Given the description of an element on the screen output the (x, y) to click on. 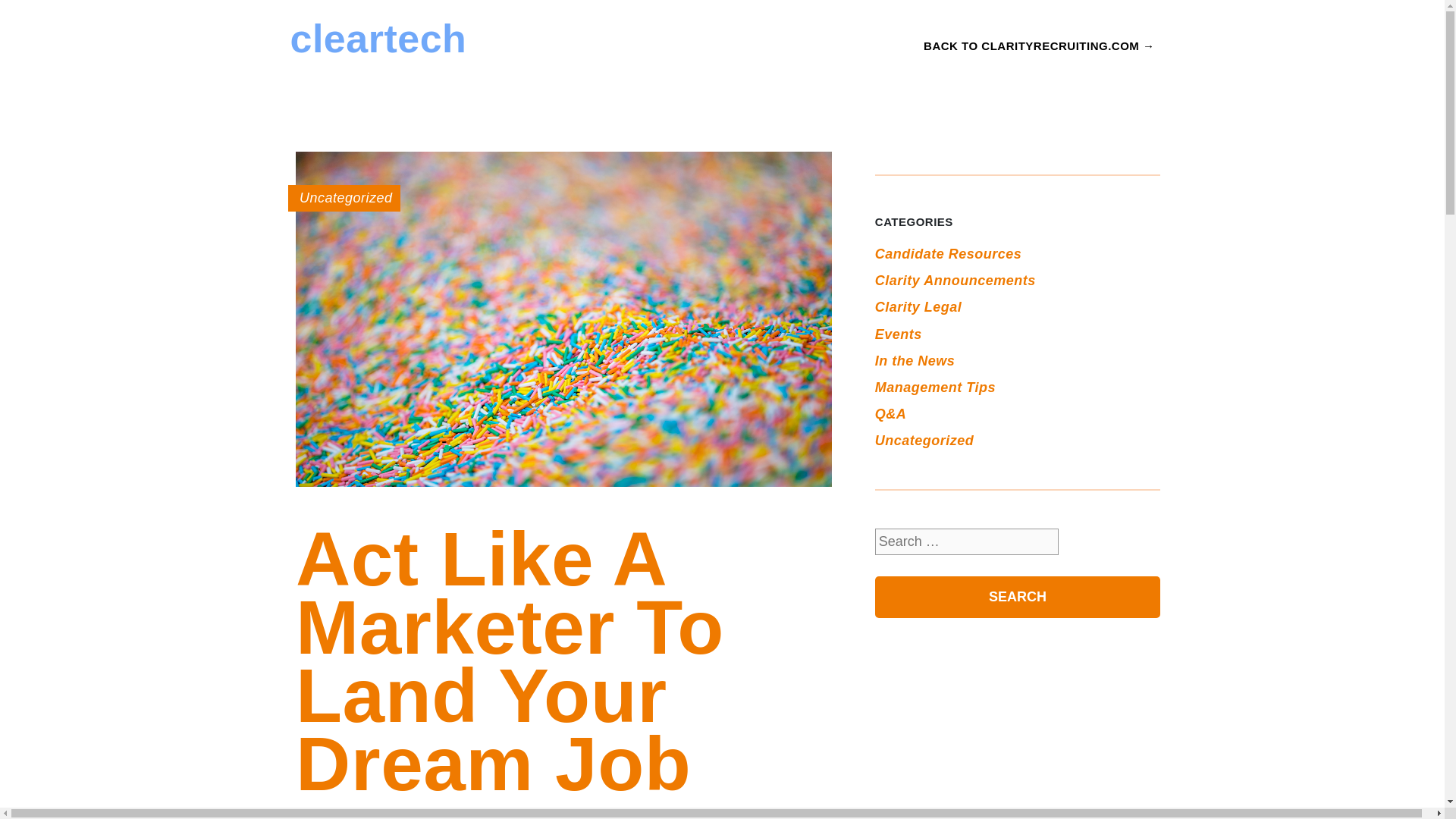
October 16, 2016 (476, 814)
Events (898, 334)
In the News (915, 360)
Uncategorized (924, 440)
Search (1017, 597)
Uncategorized (346, 197)
cleartech (377, 38)
Clarity Legal (918, 306)
Management Tips (935, 387)
Candidate Resources (948, 253)
Search (1017, 597)
Search (1017, 597)
Clarity Announcements (955, 280)
